Given the description of an element on the screen output the (x, y) to click on. 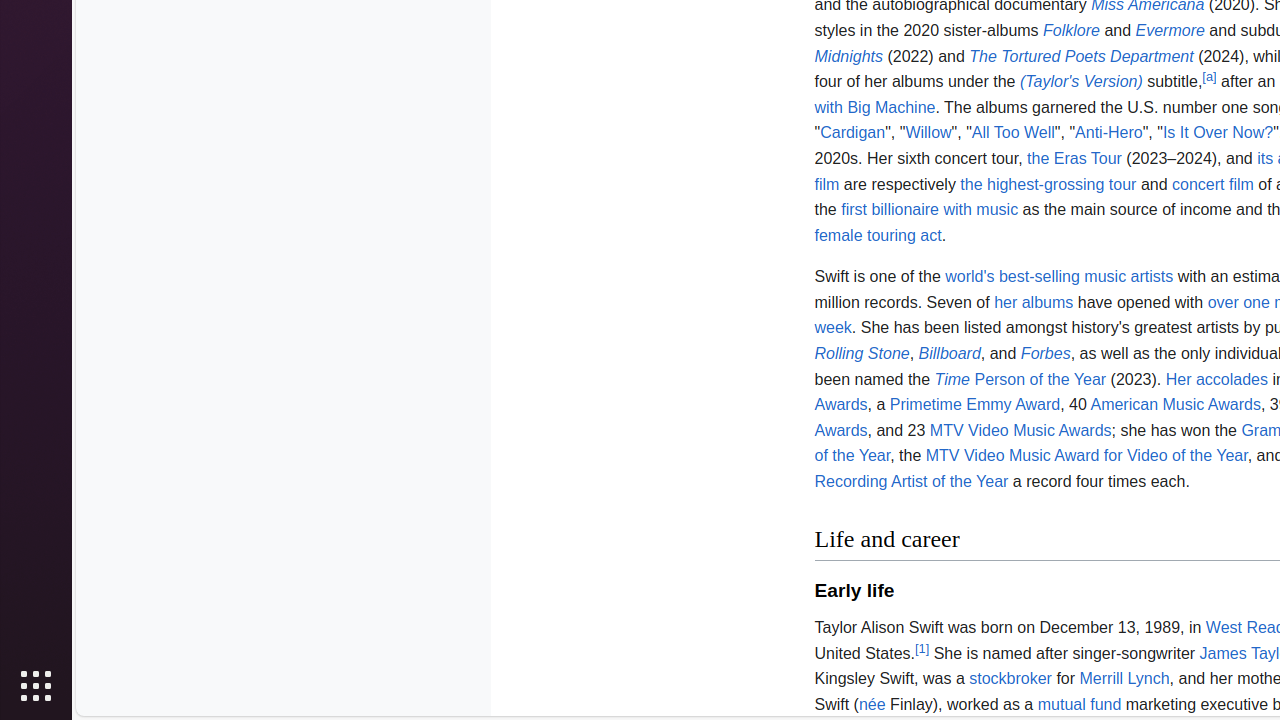
American Music Awards Element type: link (1175, 404)
Is It Over Now? Element type: link (1218, 133)
Evermore Element type: link (1170, 30)
first billionaire with music Element type: link (930, 209)
concert film Element type: link (1213, 184)
